Given the description of an element on the screen output the (x, y) to click on. 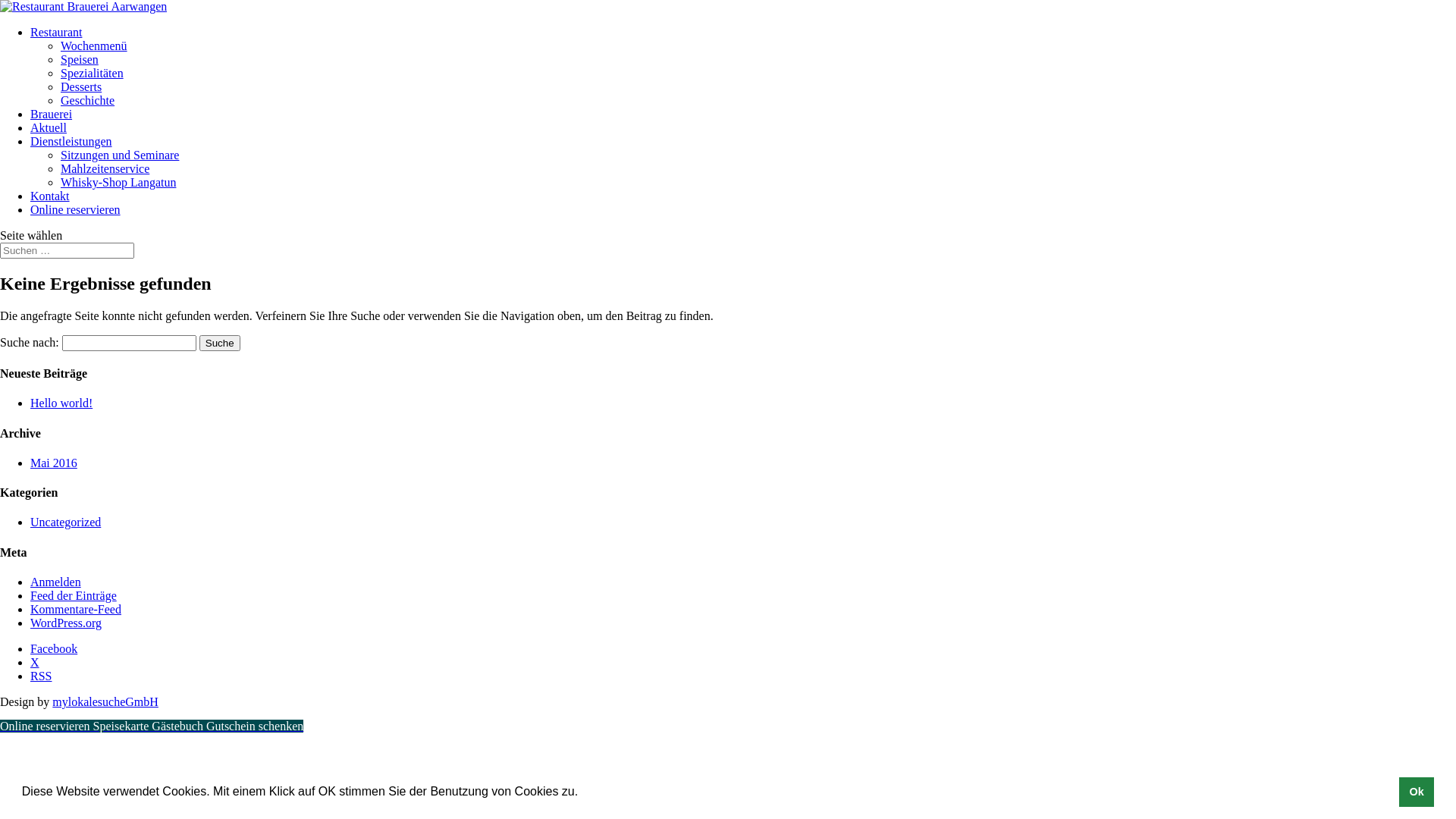
Aktuell Element type: text (48, 127)
Ok Element type: text (1416, 791)
Suchen nach: Element type: hover (67, 250)
Dienstleistungen Element type: text (71, 140)
Anmelden Element type: text (55, 581)
RSS Element type: text (40, 675)
Suche Element type: text (219, 343)
Mai 2016 Element type: text (53, 462)
Desserts Element type: text (80, 86)
Speisekarte Element type: text (119, 725)
Whisky-Shop Langatun Element type: text (117, 181)
Restaurant Element type: text (55, 31)
Facebook Element type: text (53, 648)
Kontakt Element type: text (49, 195)
Geschichte Element type: text (87, 100)
X Element type: text (34, 661)
mylokalesucheGmbH Element type: text (105, 701)
WordPress.org Element type: text (65, 622)
Speisen Element type: text (79, 59)
Gutschein schenken Element type: text (253, 725)
Hello world! Element type: text (61, 402)
Online reservieren Element type: text (45, 725)
Sitzungen und Seminare Element type: text (119, 154)
Online reservieren Element type: text (75, 209)
Uncategorized Element type: text (65, 521)
Mahlzeitenservice Element type: text (104, 168)
Brauerei Element type: text (51, 113)
Kommentare-Feed Element type: text (75, 608)
